Given the description of an element on the screen output the (x, y) to click on. 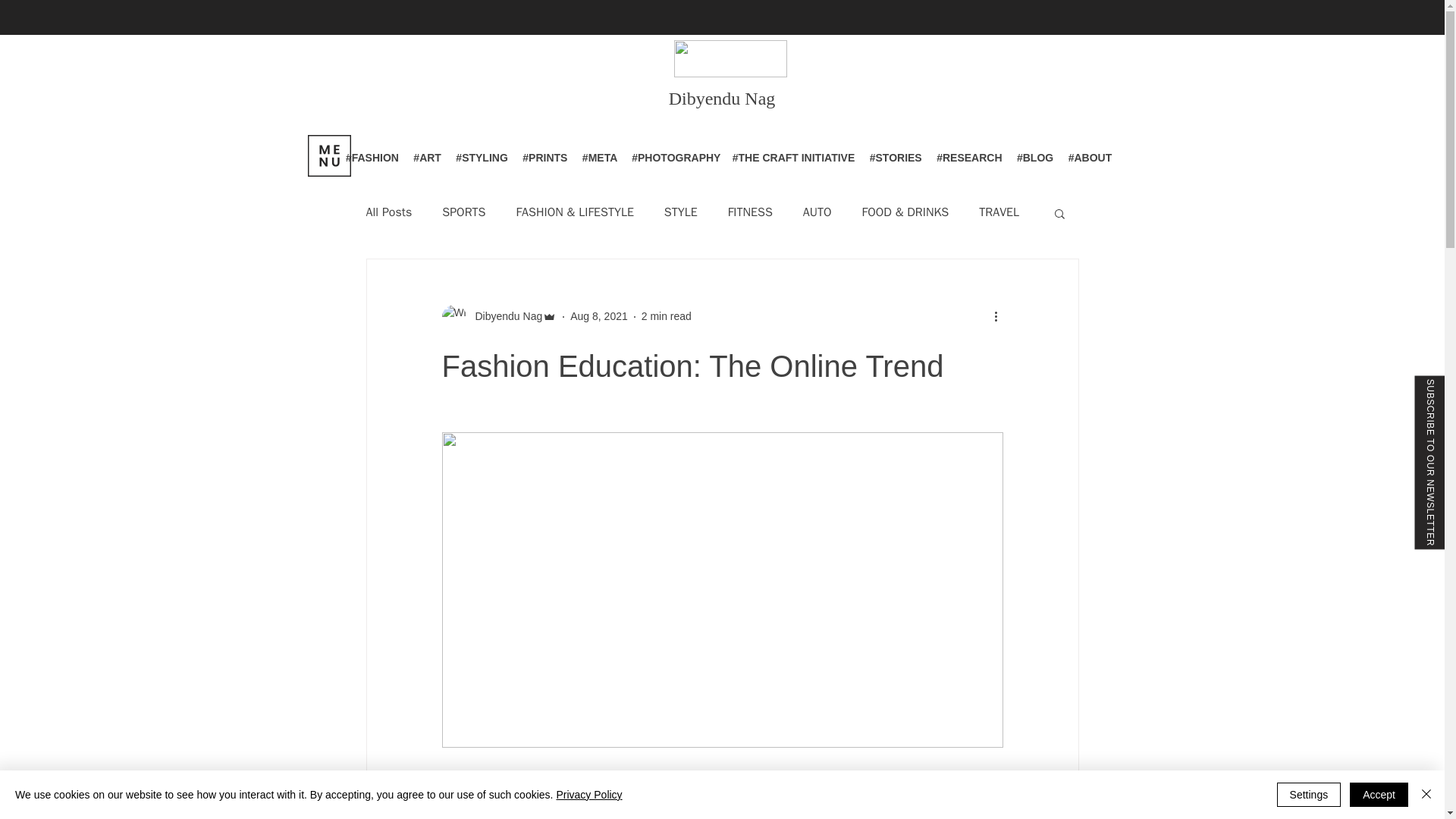
Aug 8, 2021 (598, 316)
FITNESS (750, 212)
All Posts (388, 212)
TRAVEL (998, 212)
STYLE (680, 212)
SPORTS (463, 212)
Dibyendu Nag (722, 97)
2 min read (666, 316)
AUTO (817, 212)
Dibyendu Nag (503, 316)
